Given the description of an element on the screen output the (x, y) to click on. 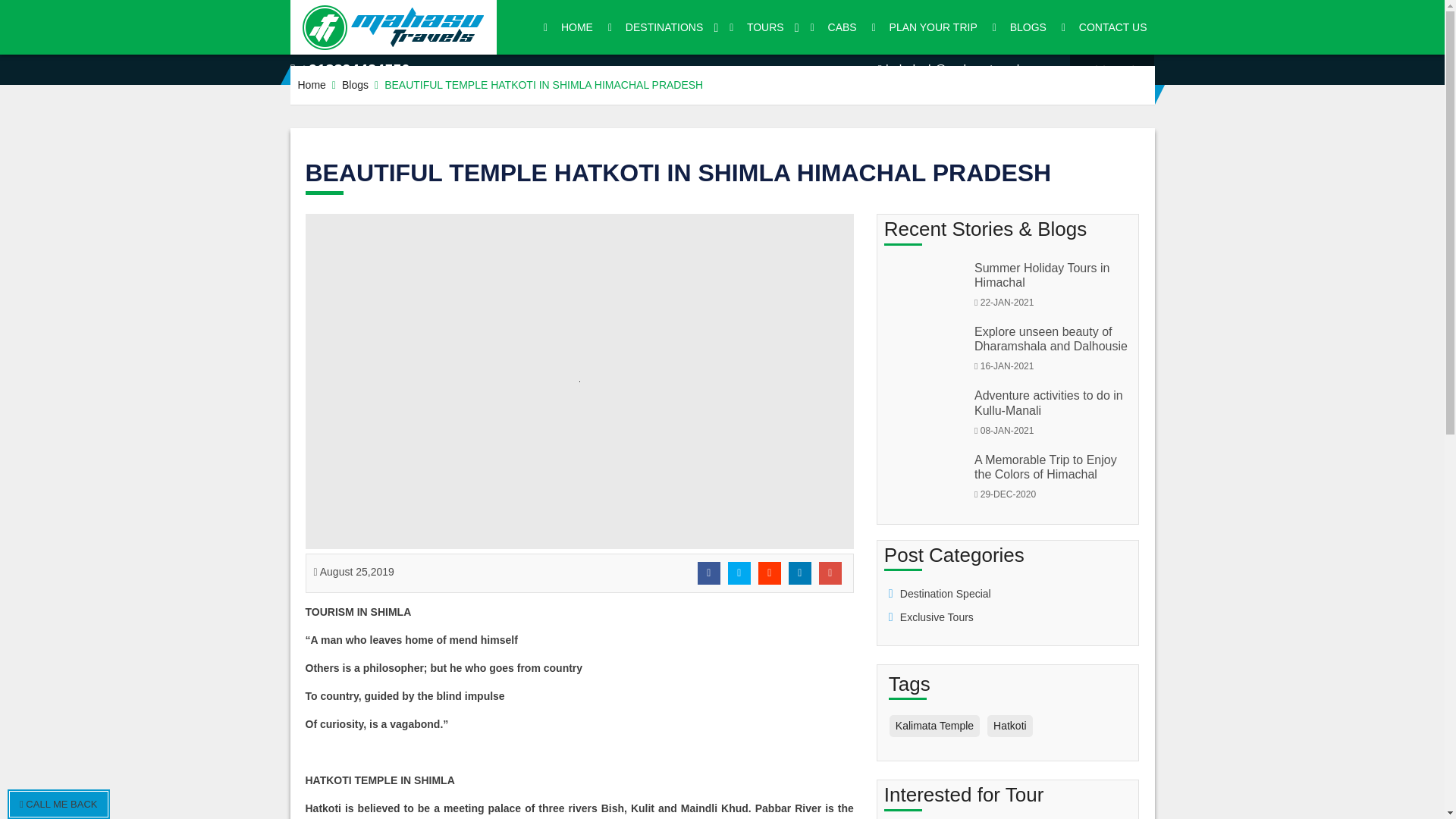
Tours (762, 27)
Destinations (660, 27)
DESTINATIONS (660, 27)
CABS (833, 27)
Blogs (355, 84)
Home (310, 84)
TOURS (762, 27)
BLOGS (1019, 27)
CONTACT US (1104, 27)
Quick Inquiry (1112, 69)
HOME (567, 27)
PLAN YOUR TRIP (924, 27)
